Given the description of an element on the screen output the (x, y) to click on. 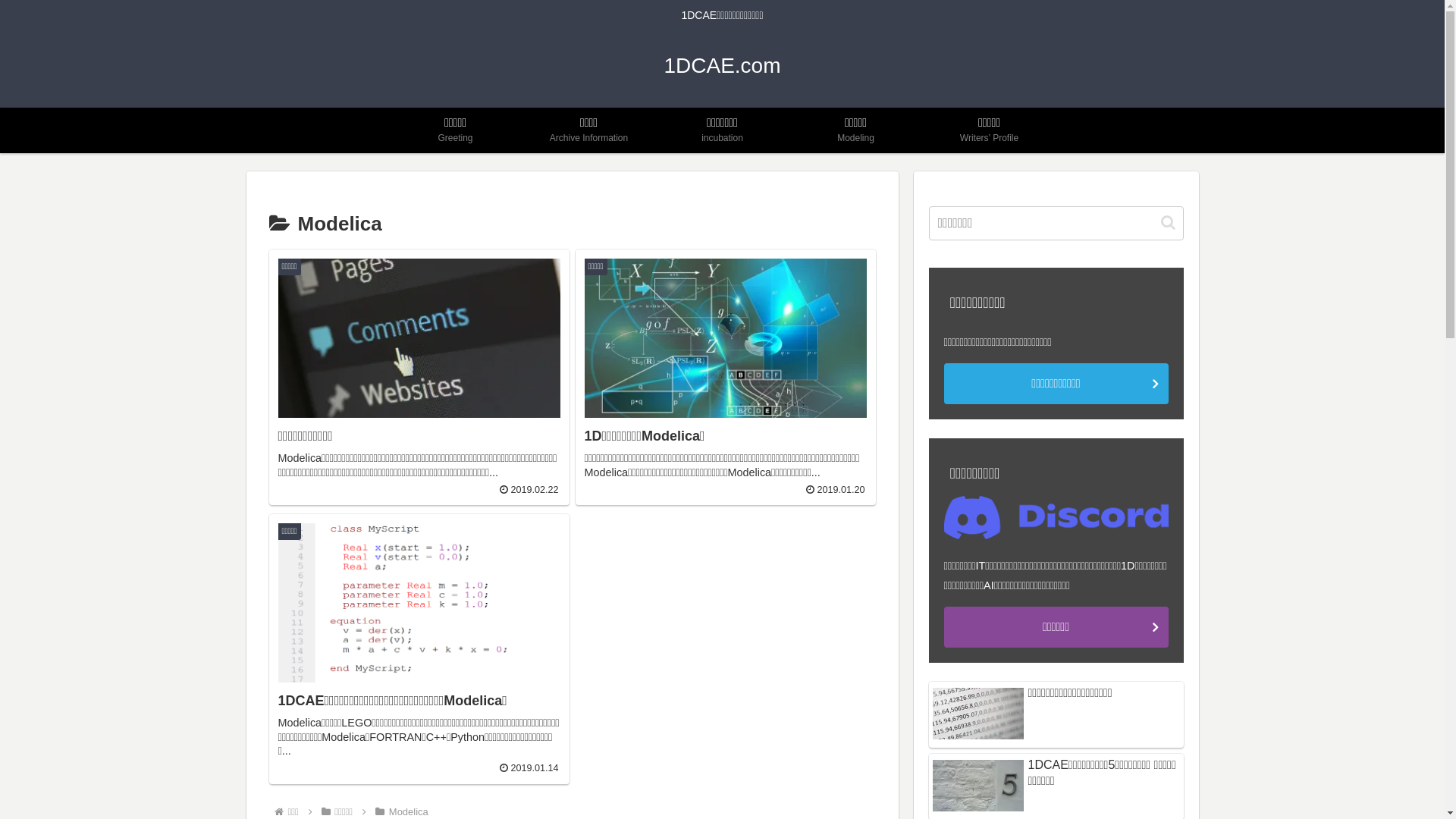
Modelica Element type: text (408, 811)
1DCAE.com Element type: text (721, 67)
